Given the description of an element on the screen output the (x, y) to click on. 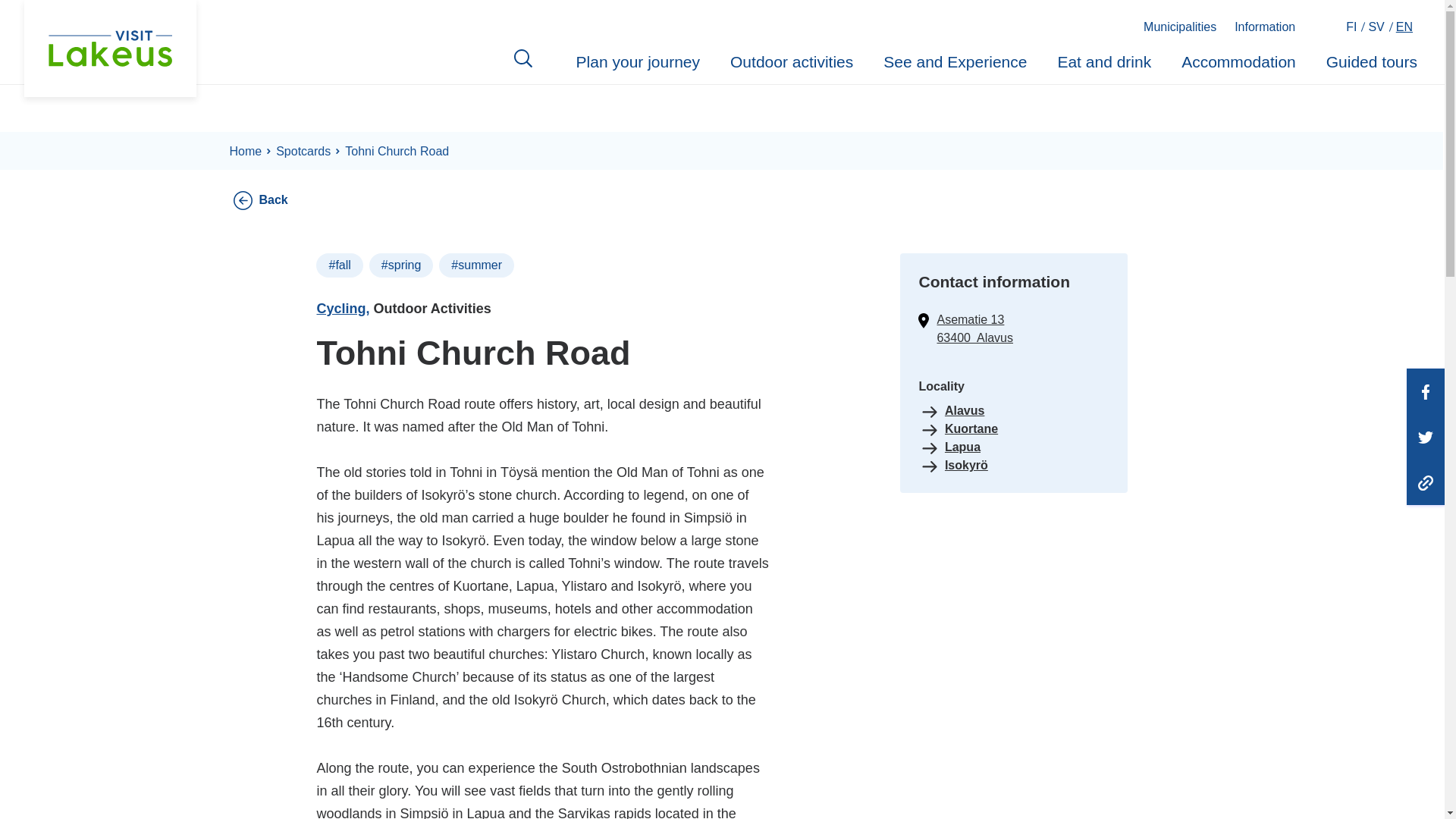
EN (1405, 26)
SV (1377, 26)
Back (273, 199)
Plan your journey (638, 63)
Cycling, (342, 308)
See and Experience (954, 63)
Guided tours (1371, 63)
Outdoor activities (791, 63)
FI (1352, 26)
